Given the description of an element on the screen output the (x, y) to click on. 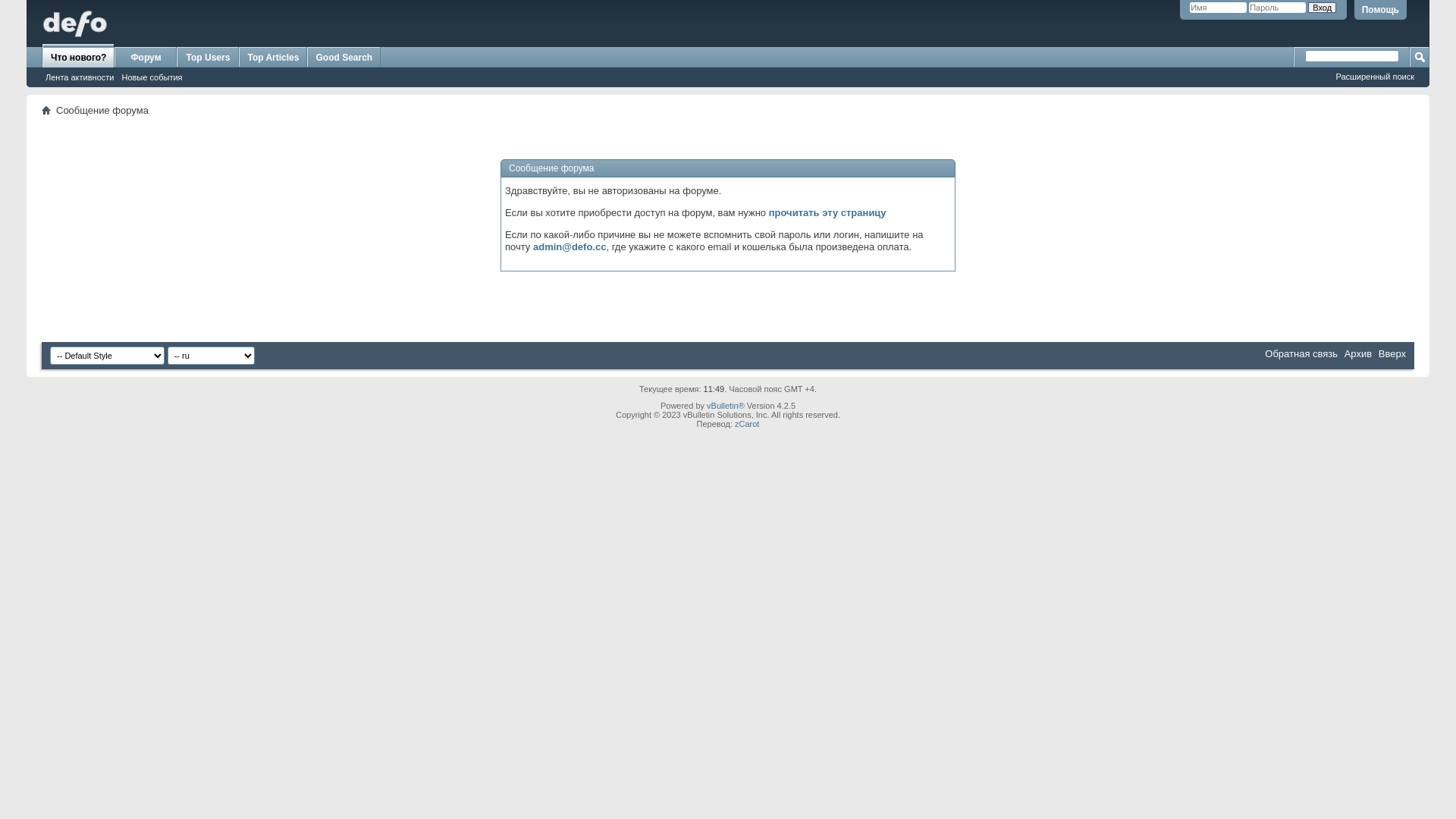
zCarot Element type: text (746, 423)
Top Articles Element type: text (272, 57)
Top Users Element type: text (207, 57)
admin@defo.cc Element type: text (569, 246)
Good Search Element type: text (343, 57)
